Given the description of an element on the screen output the (x, y) to click on. 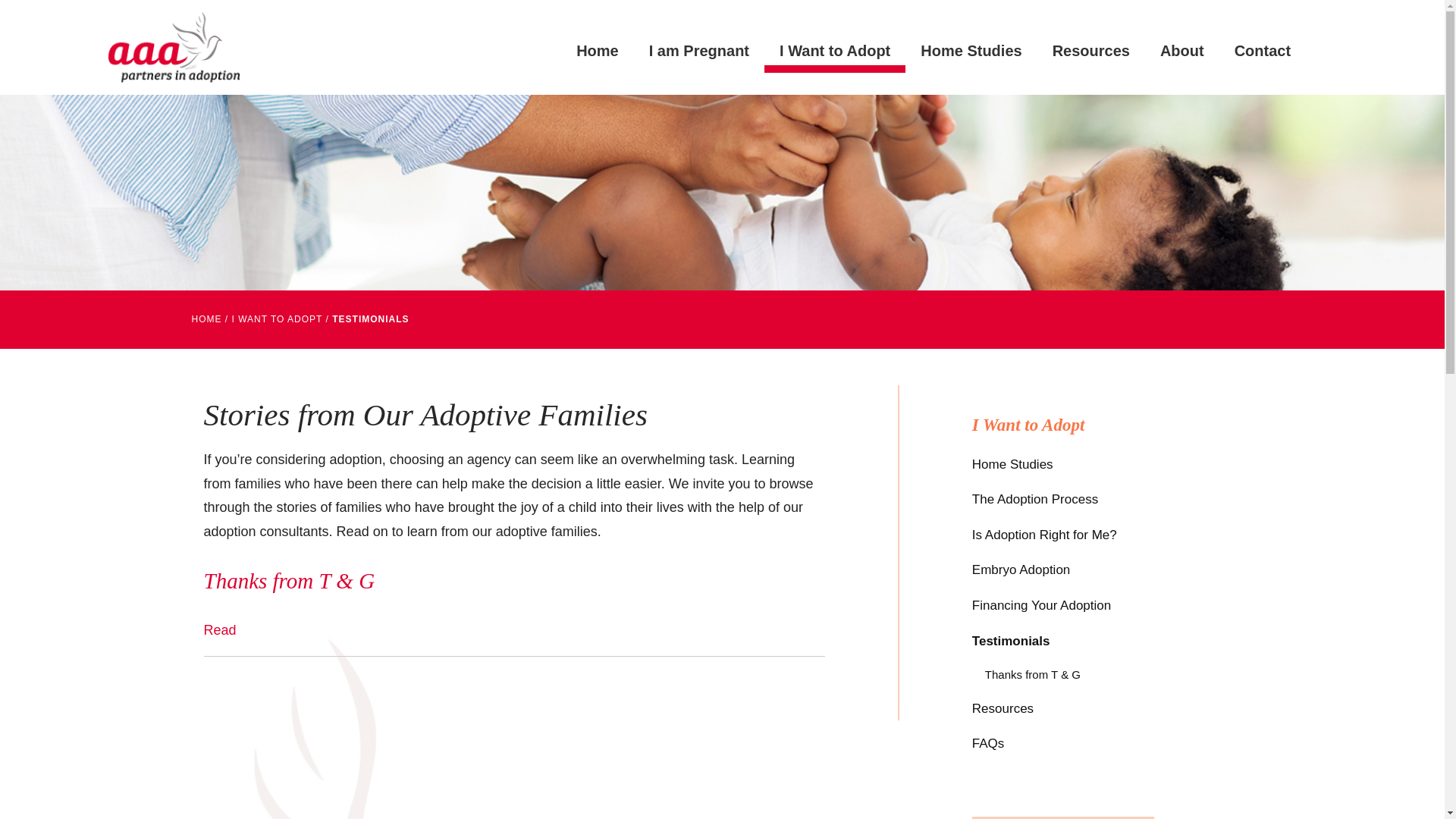
I am Pregnant (698, 50)
Home (596, 50)
I Want to Adopt (834, 50)
Home Studies (970, 50)
